Given the description of an element on the screen output the (x, y) to click on. 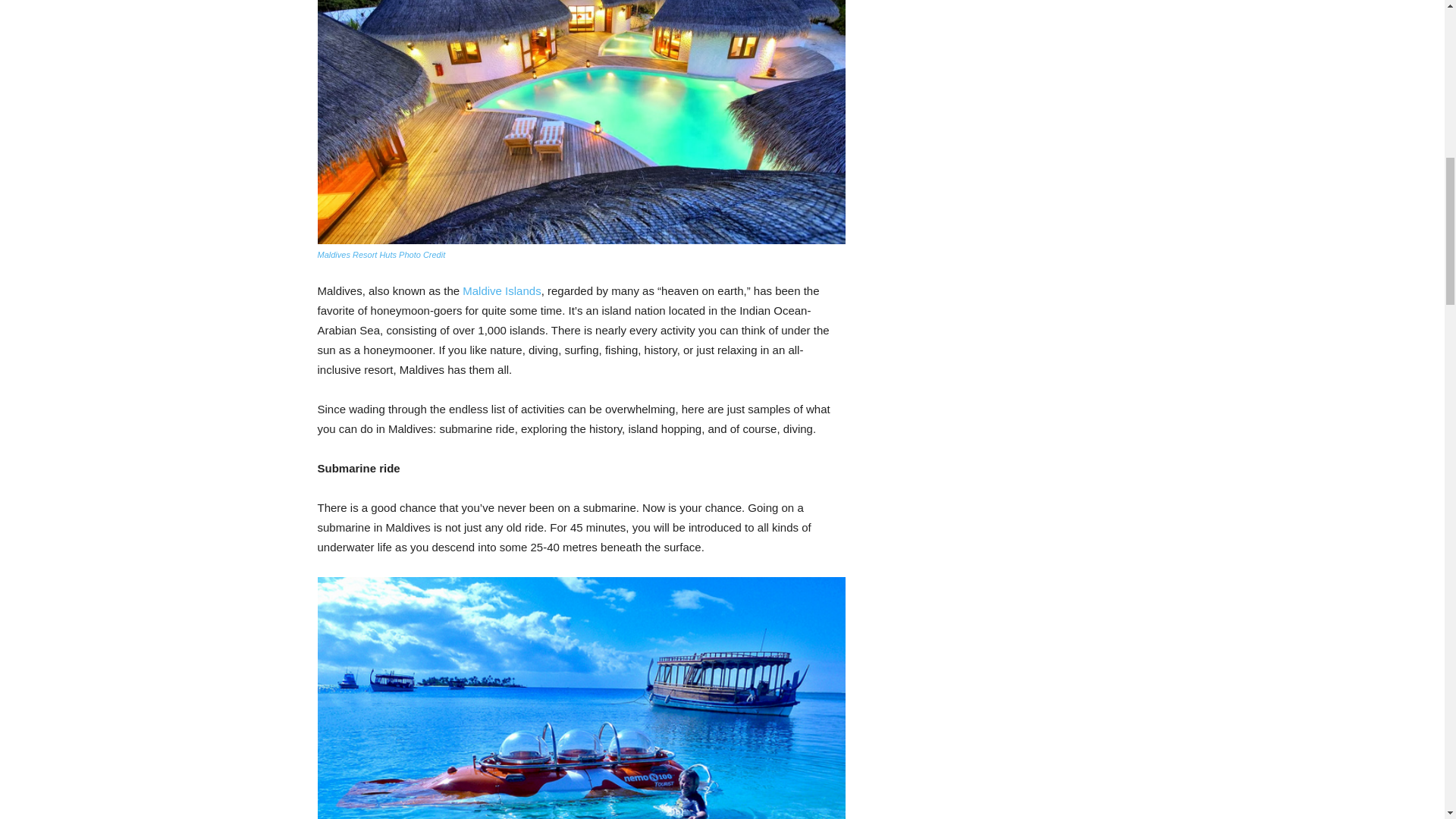
Maldives Resort Huts Photo Credit (381, 254)
Maldive Islands (501, 290)
